Given the description of an element on the screen output the (x, y) to click on. 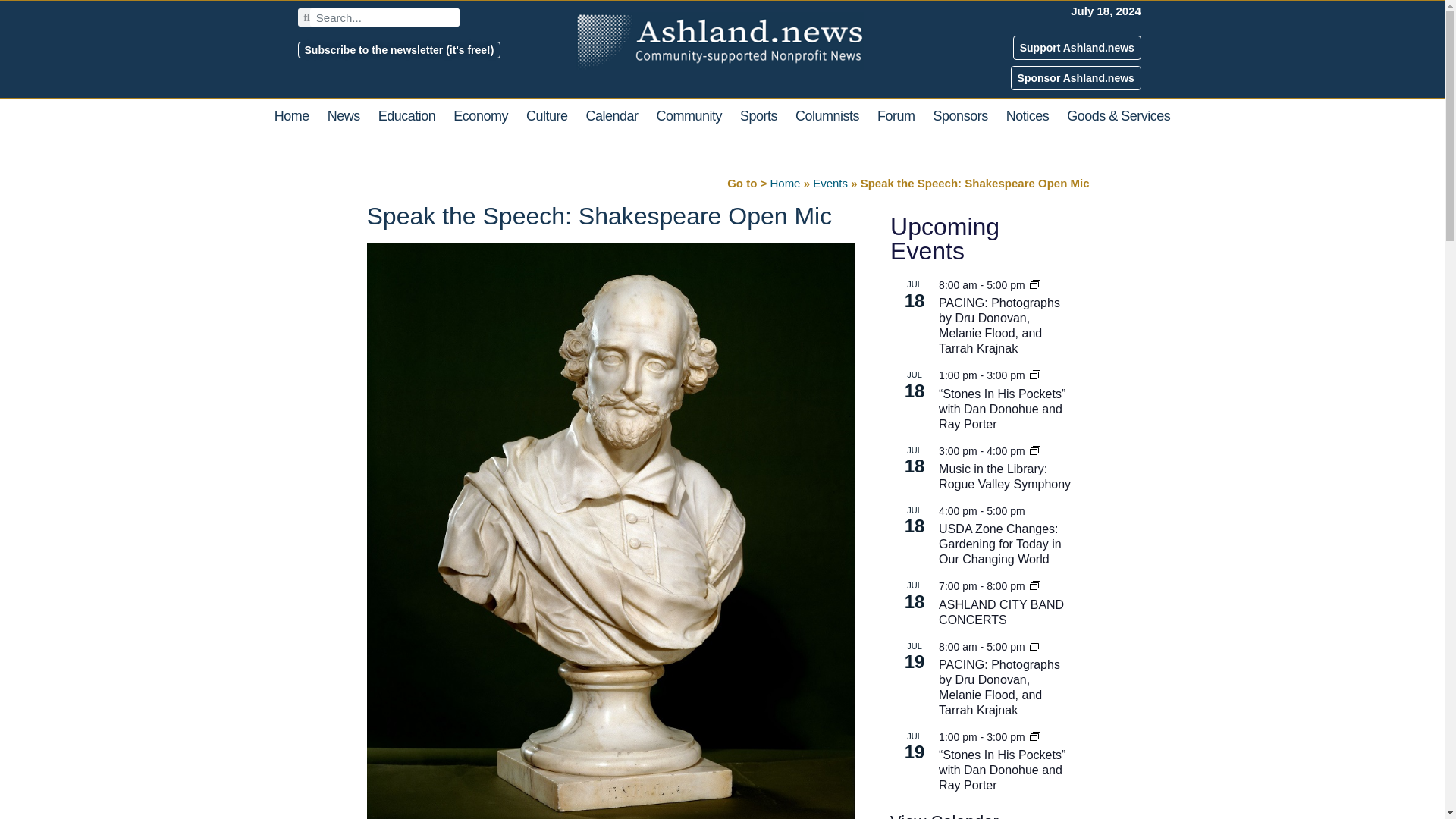
Event Series (1035, 376)
Sponsor Ashland.news (1075, 77)
Event Series (1035, 647)
Education (407, 114)
News (343, 114)
Event Series (1035, 374)
Event Series (1035, 736)
Event Series (1035, 645)
Event Series (1035, 586)
Music in the Library: Rogue Valley Symphony (1004, 476)
ASHLAND CITY BAND CONCERTS (1001, 612)
USDA Zone Changes: Gardening for Today in Our Changing World (1000, 544)
Event Series (1035, 450)
Home (291, 114)
Event Series (1035, 451)
